Given the description of an element on the screen output the (x, y) to click on. 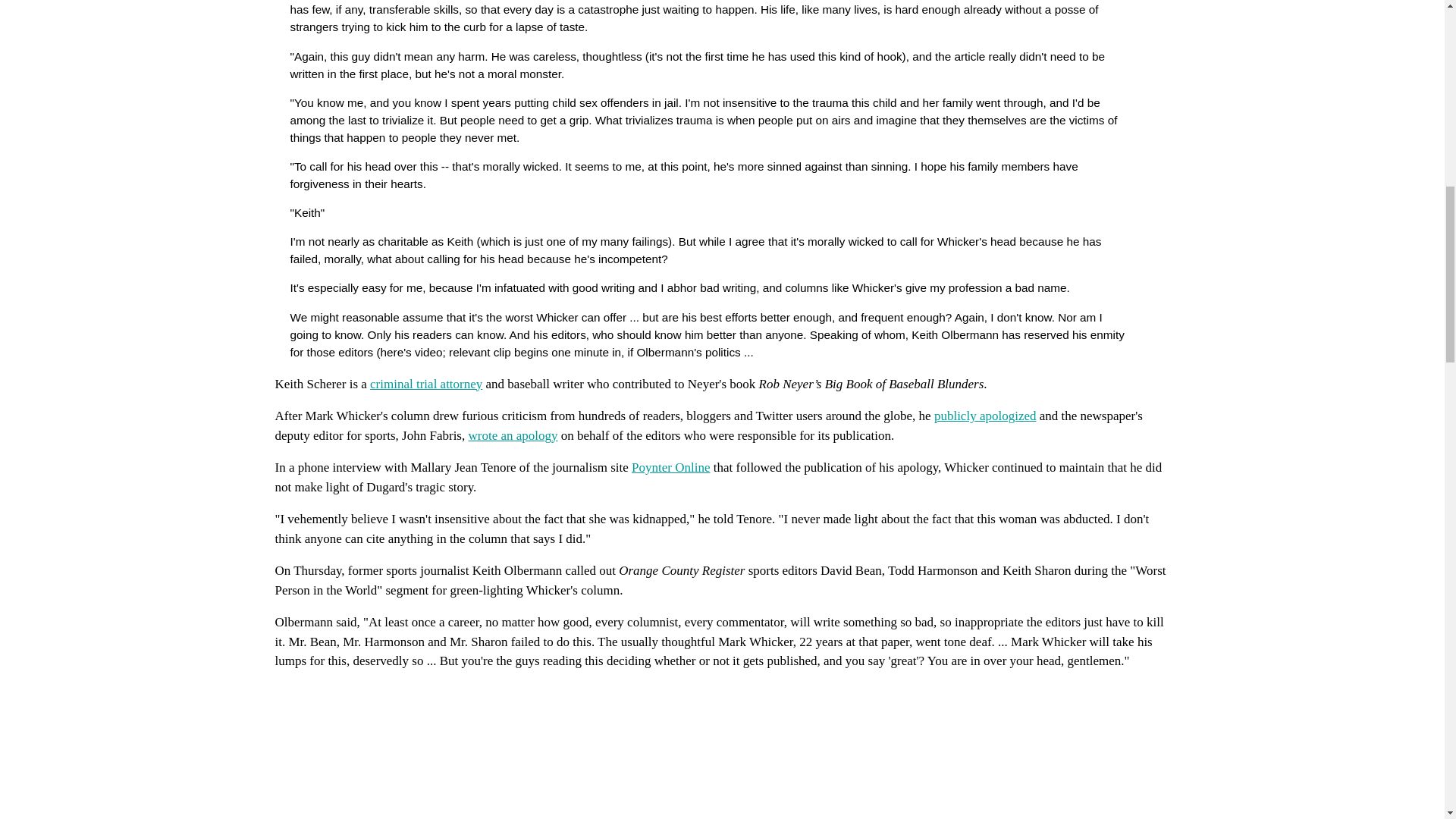
criminal trial attorney (425, 383)
wrote an apology (512, 435)
Poynter Online (670, 467)
